Given the description of an element on the screen output the (x, y) to click on. 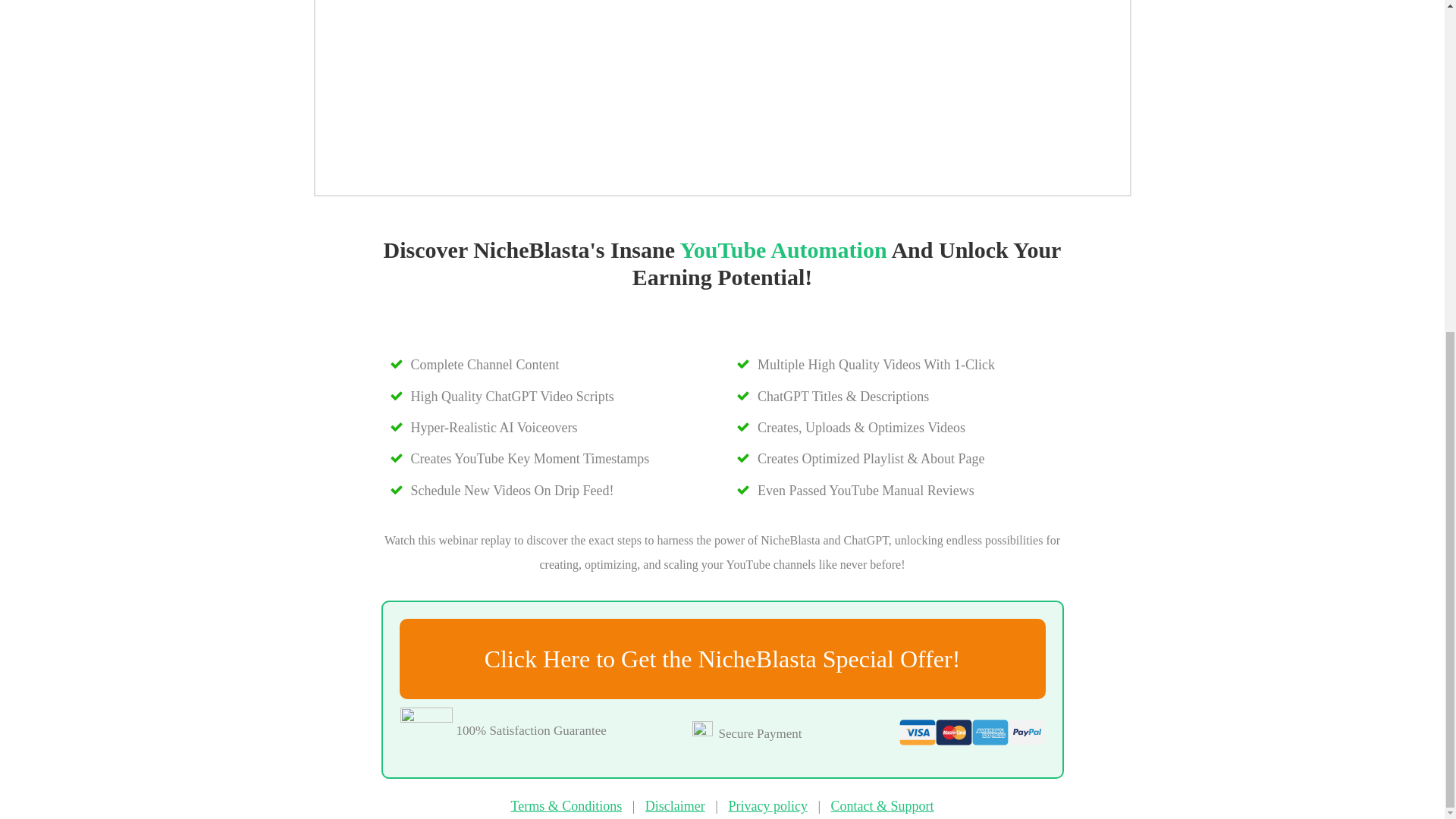
Click Here to Get the NicheBlasta Special Offer! (721, 659)
atomic-guarantee-badge (426, 733)
Privacy policy (767, 806)
Disclaimer (674, 806)
